Given the description of an element on the screen output the (x, y) to click on. 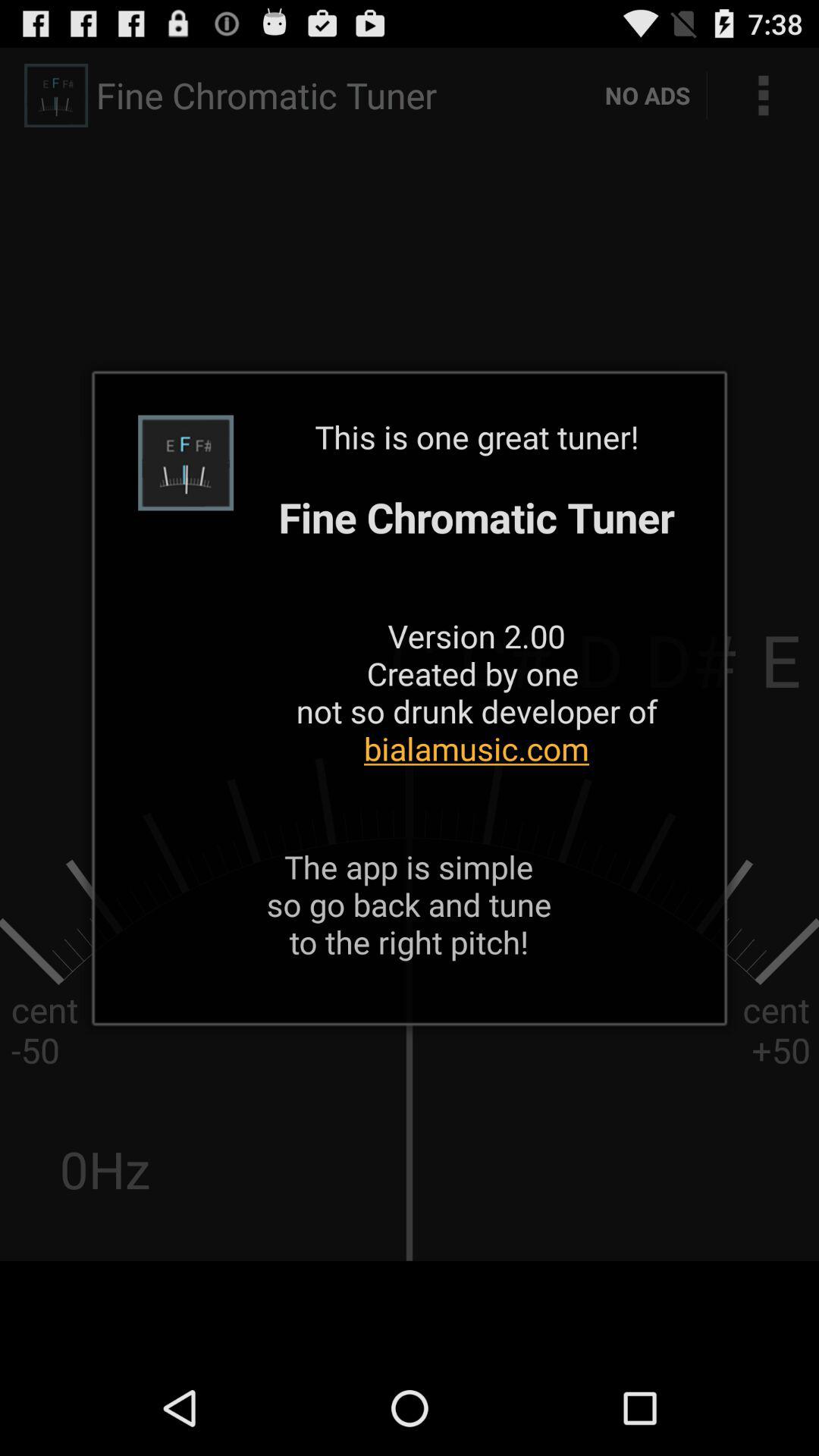
click icon above the app is app (476, 611)
